Given the description of an element on the screen output the (x, y) to click on. 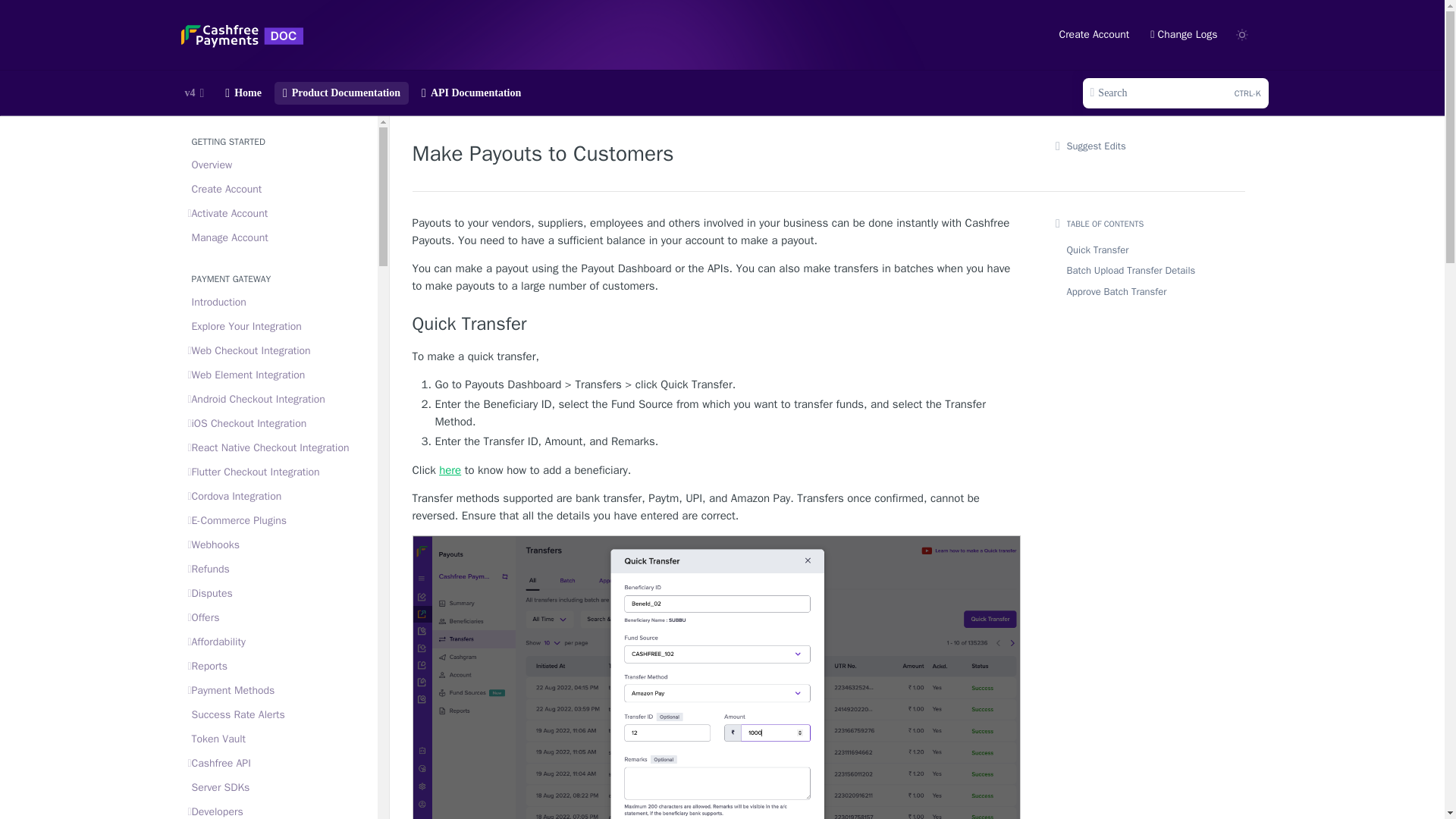
Quick Transfer (715, 323)
Product Documentation (342, 92)
v4 (194, 92)
Create Account (277, 189)
API Documentation (471, 92)
Home (1175, 92)
Manage Account (242, 92)
Create Account (277, 237)
Web Checkout Integration (1093, 34)
Explore Your Integration (277, 350)
Introduction (277, 326)
Screenshot 2022-08-23 at 2.09.27 PM.png (277, 302)
Activate Account (277, 374)
